Given the description of an element on the screen output the (x, y) to click on. 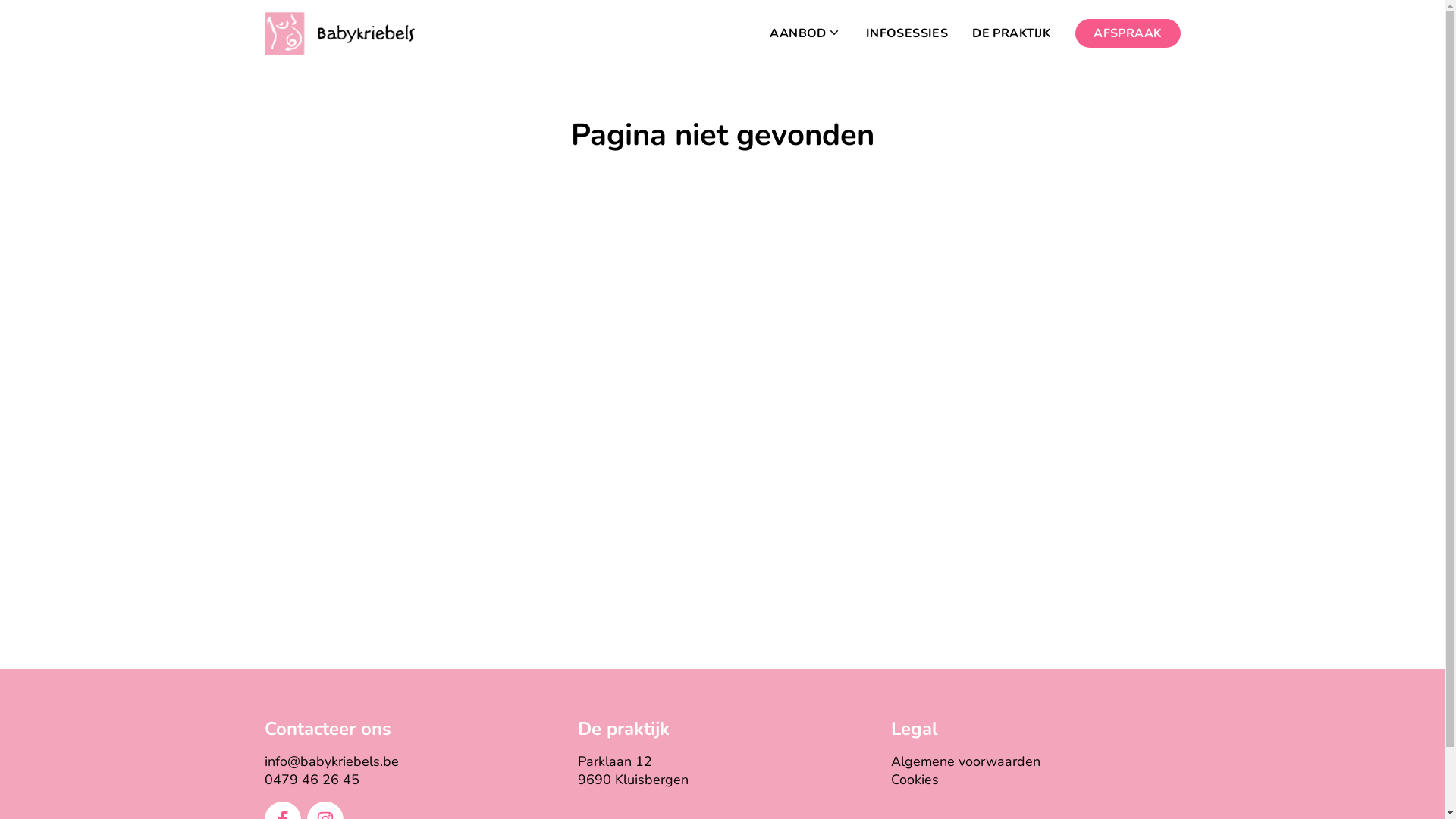
Cookies Element type: text (914, 779)
Parklaan 12
9690 Kluisbergen Element type: text (632, 770)
AFSPRAAK Element type: text (1127, 32)
AANBOD Element type: text (804, 32)
INFOSESSIES Element type: text (906, 32)
0479 46 26 45 Element type: text (310, 779)
Algemene voorwaarden Element type: text (965, 761)
info@babykriebels.be Element type: text (330, 761)
DE PRAKTIJK Element type: text (1011, 32)
